Given the description of an element on the screen output the (x, y) to click on. 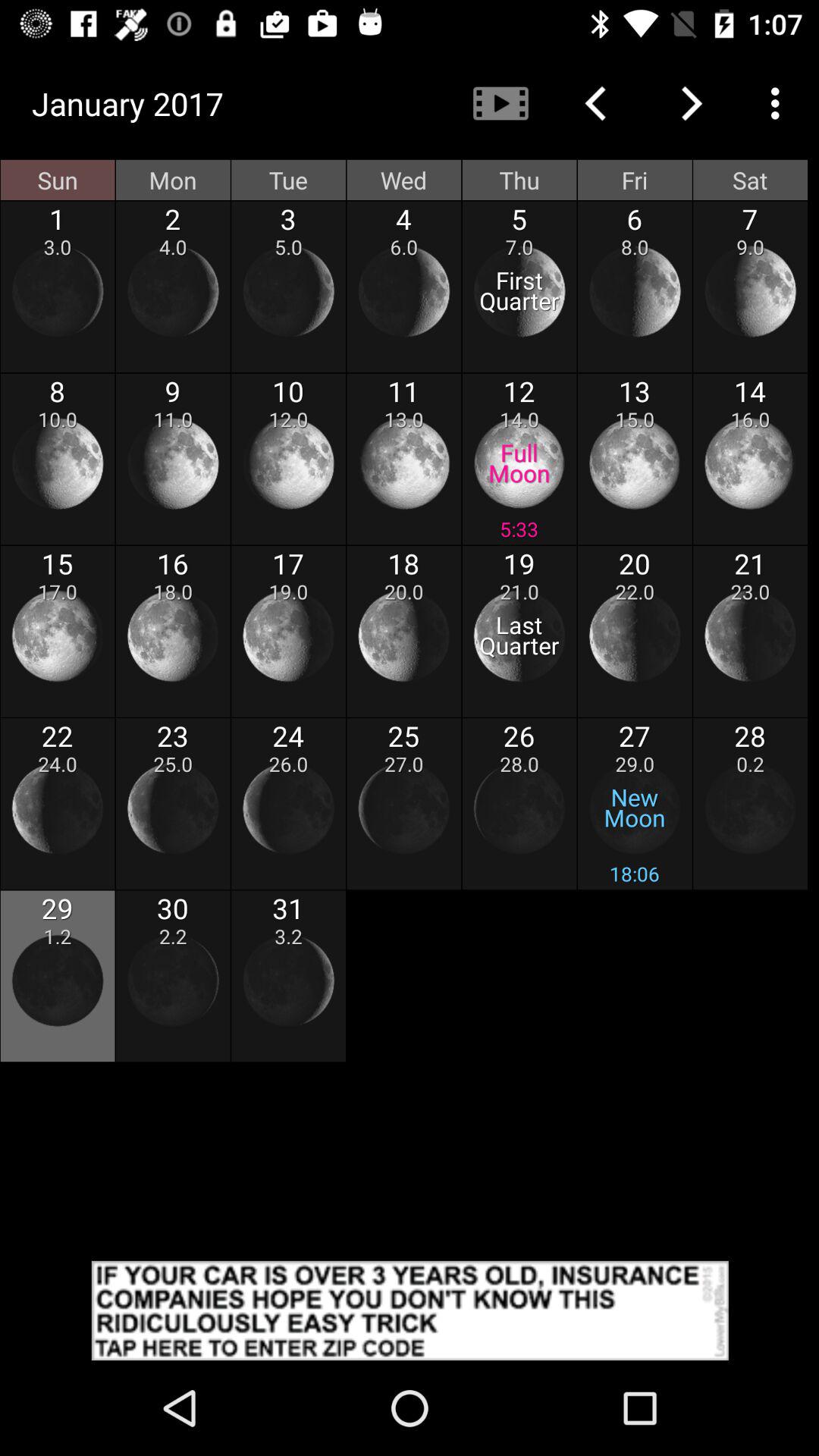
toggle video (500, 103)
